Given the description of an element on the screen output the (x, y) to click on. 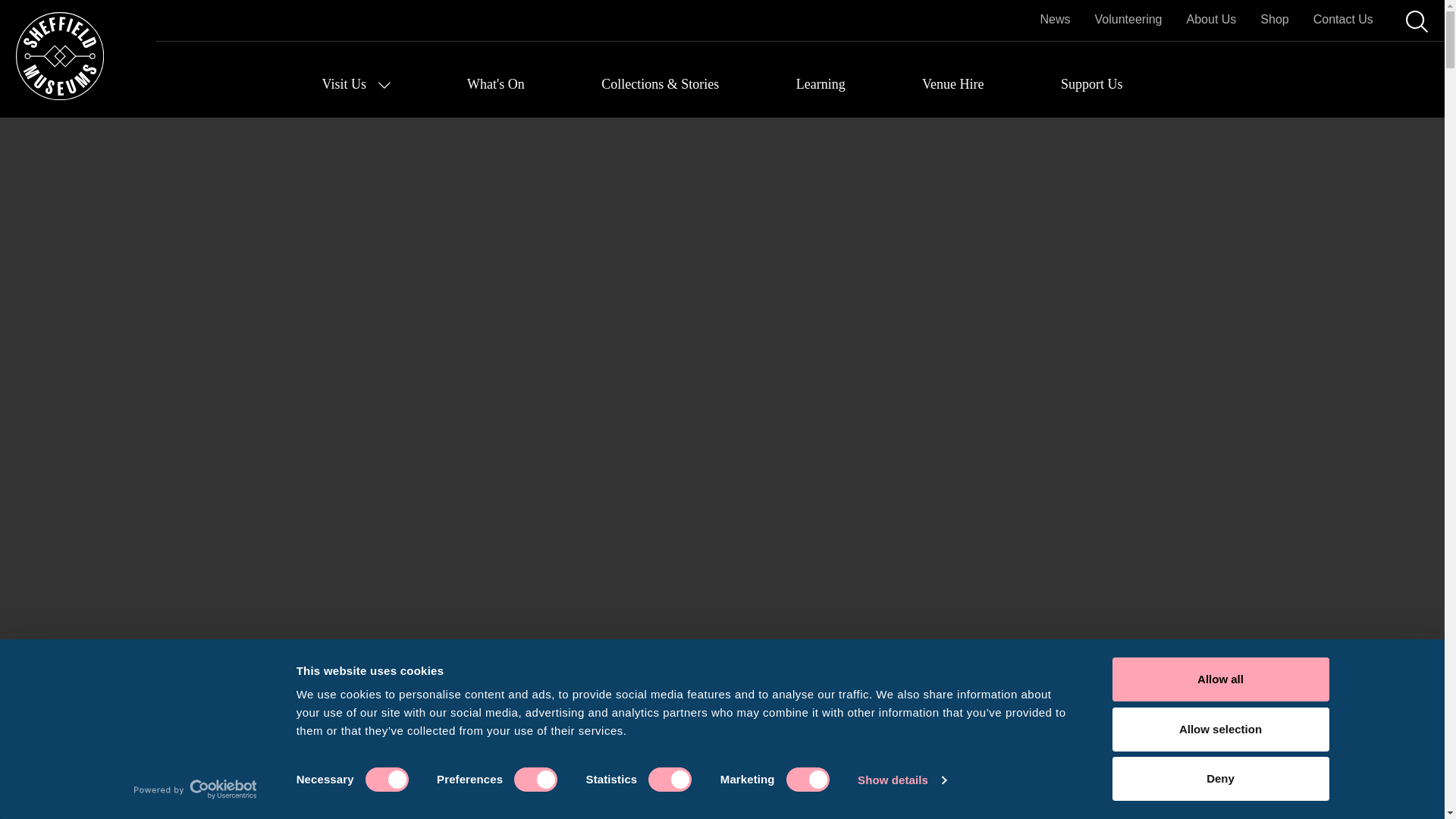
Visit Us (355, 84)
Deny (1219, 778)
Show details (900, 780)
Allow all (1219, 679)
Allow selection (1219, 728)
